Given the description of an element on the screen output the (x, y) to click on. 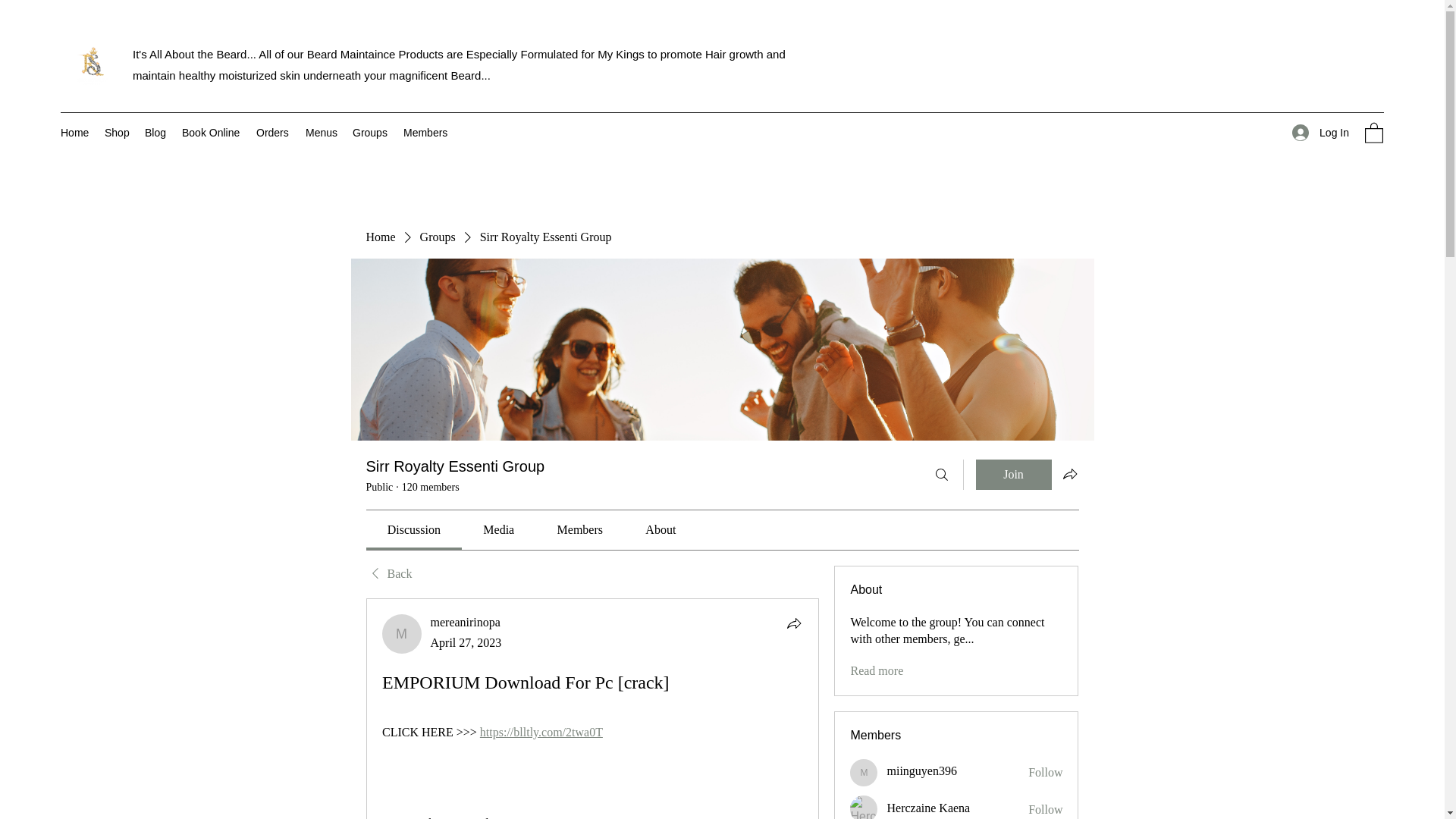
Home (379, 237)
Join (1013, 474)
Back (388, 573)
Read more (876, 670)
Book Online (211, 132)
Blog (155, 132)
Log In (1320, 132)
mereanirinopa (465, 621)
mereanirinopa (401, 633)
Orders (273, 132)
